Given the description of an element on the screen output the (x, y) to click on. 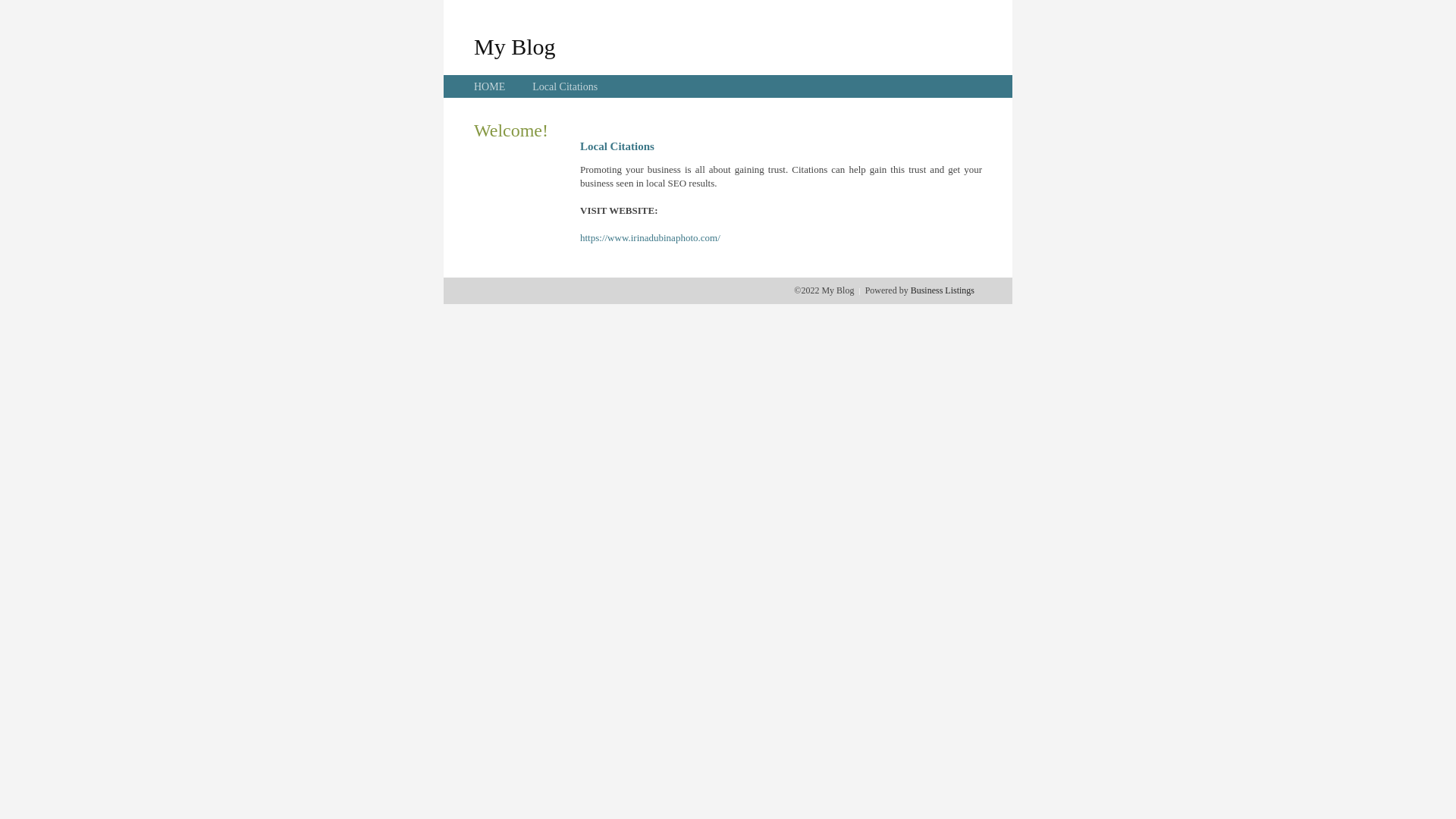
HOME Element type: text (489, 86)
My Blog Element type: text (514, 46)
https://www.irinadubinaphoto.com/ Element type: text (650, 237)
Business Listings Element type: text (942, 290)
Local Citations Element type: text (564, 86)
